Given the description of an element on the screen output the (x, y) to click on. 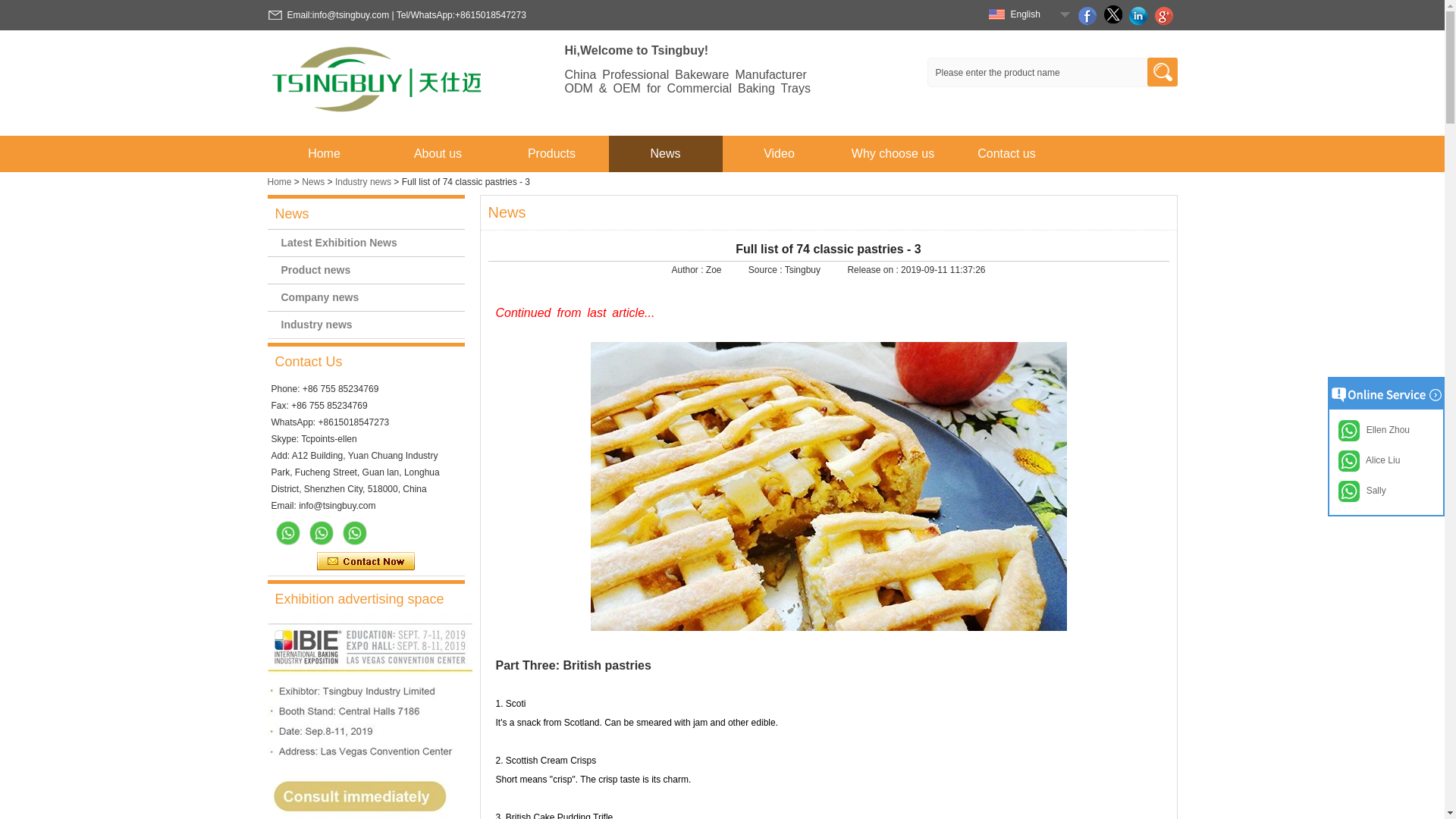
News (665, 153)
China Product news manufacturer (365, 270)
Sally (287, 532)
Tsingbuy Linkedin (1140, 15)
China Industry news manufacturer (365, 325)
Products (552, 153)
Alice Liu (320, 532)
Home (324, 153)
Search (1163, 73)
Please enter the product name (1051, 71)
Search (1163, 73)
China Latest Exhibition News manufacturer (365, 243)
China Company news manufacturer (365, 297)
About us (437, 153)
Tsingbuy (376, 81)
